Given the description of an element on the screen output the (x, y) to click on. 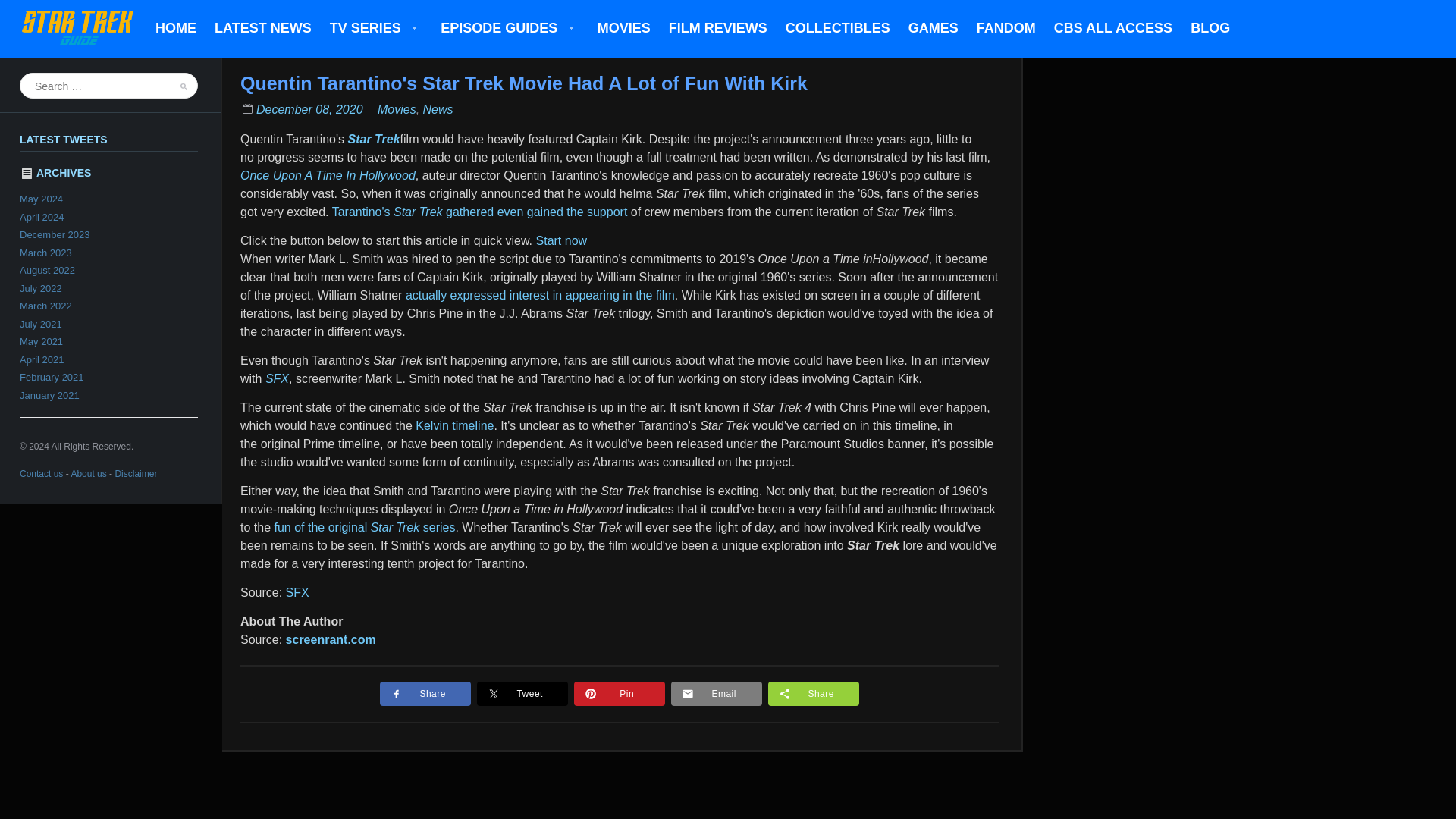
April 2024 (42, 215)
MOVIES (623, 28)
FANDOM (1006, 28)
GAMES (933, 28)
Search (178, 107)
Search (178, 107)
HOME (176, 28)
May 2024 (41, 198)
BLOG (1209, 28)
FILM REVIEWS (717, 28)
CBS ALL ACCESS (1112, 28)
COLLECTIBLES (837, 28)
LATEST NEWS (262, 28)
